Given the description of an element on the screen output the (x, y) to click on. 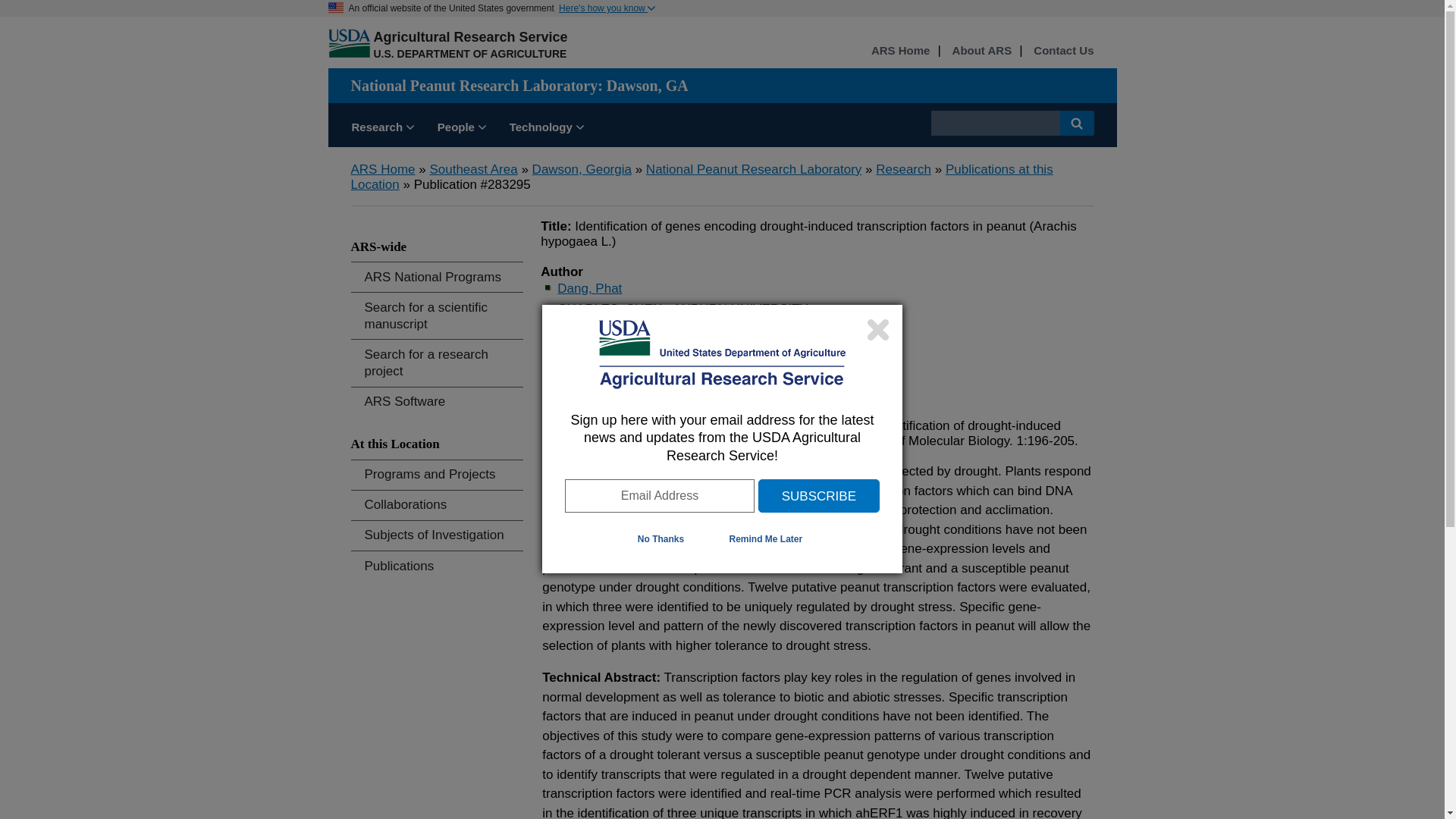
ARS Home (900, 50)
Search for a research project (436, 362)
Subscribe (818, 495)
Search for a scientific manuscript (436, 315)
search (995, 122)
Agricultural Research Service Home (469, 37)
U.S. DEPARTMENT OF AGRICULTURE Home (469, 53)
Technology (546, 128)
Contact Us (1063, 50)
Publications at this Location (701, 176)
Agricultural Research Service (469, 37)
Close subscription dialog (877, 328)
ARS Home (900, 50)
People (461, 128)
ARS Home (382, 169)
